Given the description of an element on the screen output the (x, y) to click on. 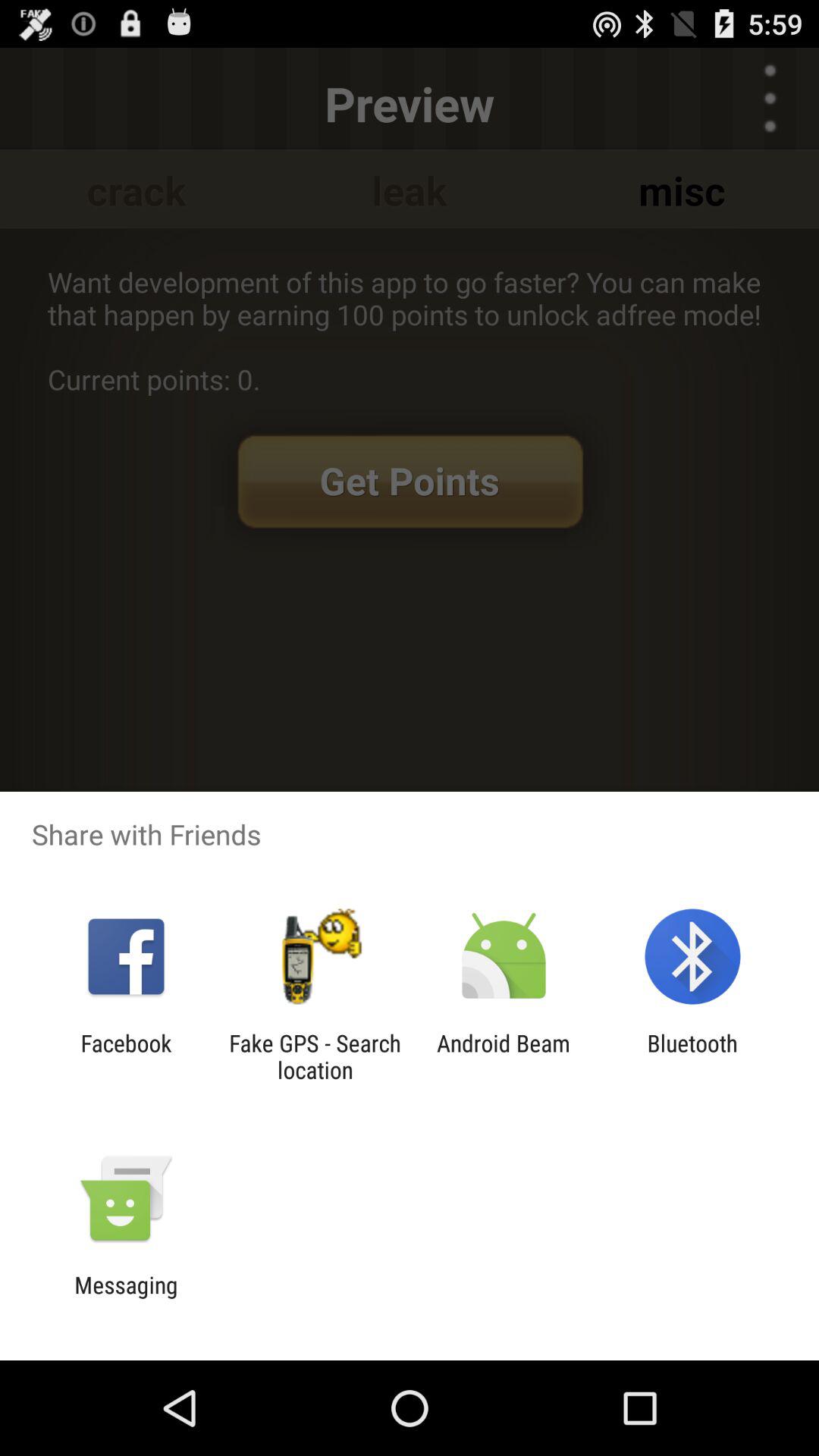
press the icon next to android beam app (692, 1056)
